Given the description of an element on the screen output the (x, y) to click on. 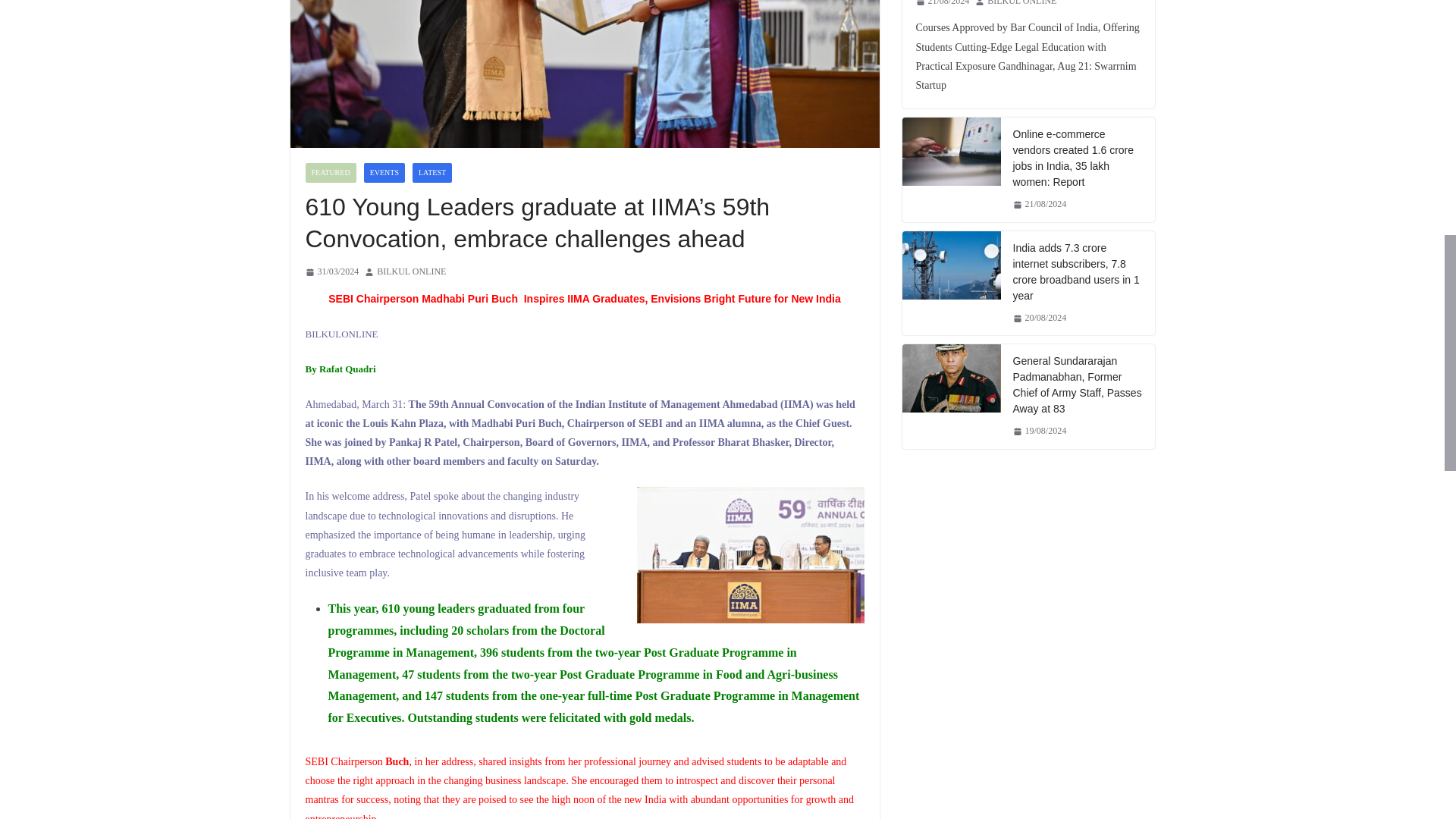
FEATURED (329, 172)
EVENTS (384, 172)
LATEST (431, 172)
BILKUL ONLINE (411, 271)
11:11 am (331, 271)
BILKUL ONLINE (411, 271)
